Given the description of an element on the screen output the (x, y) to click on. 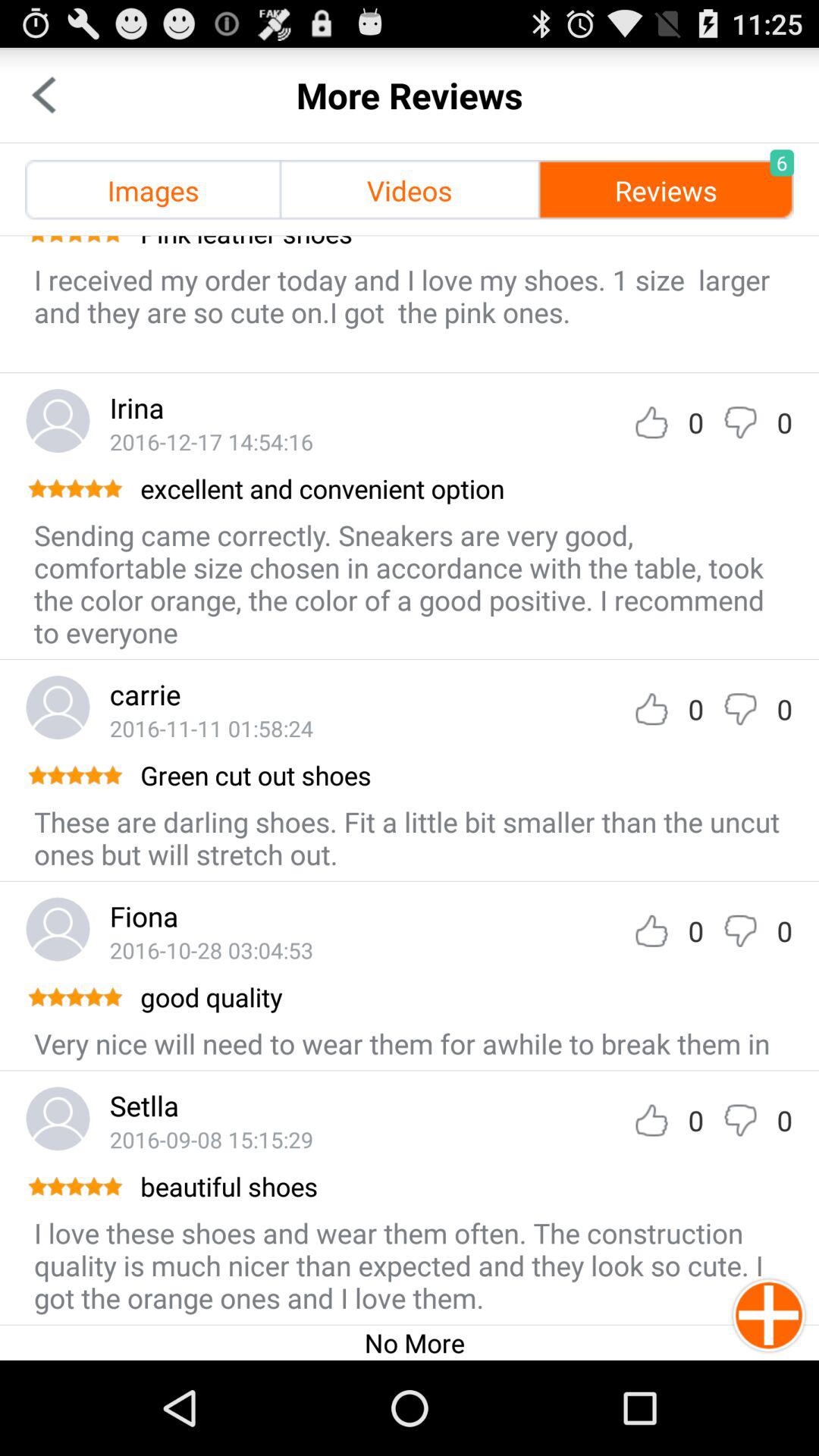
thumbs down (740, 709)
